Given the description of an element on the screen output the (x, y) to click on. 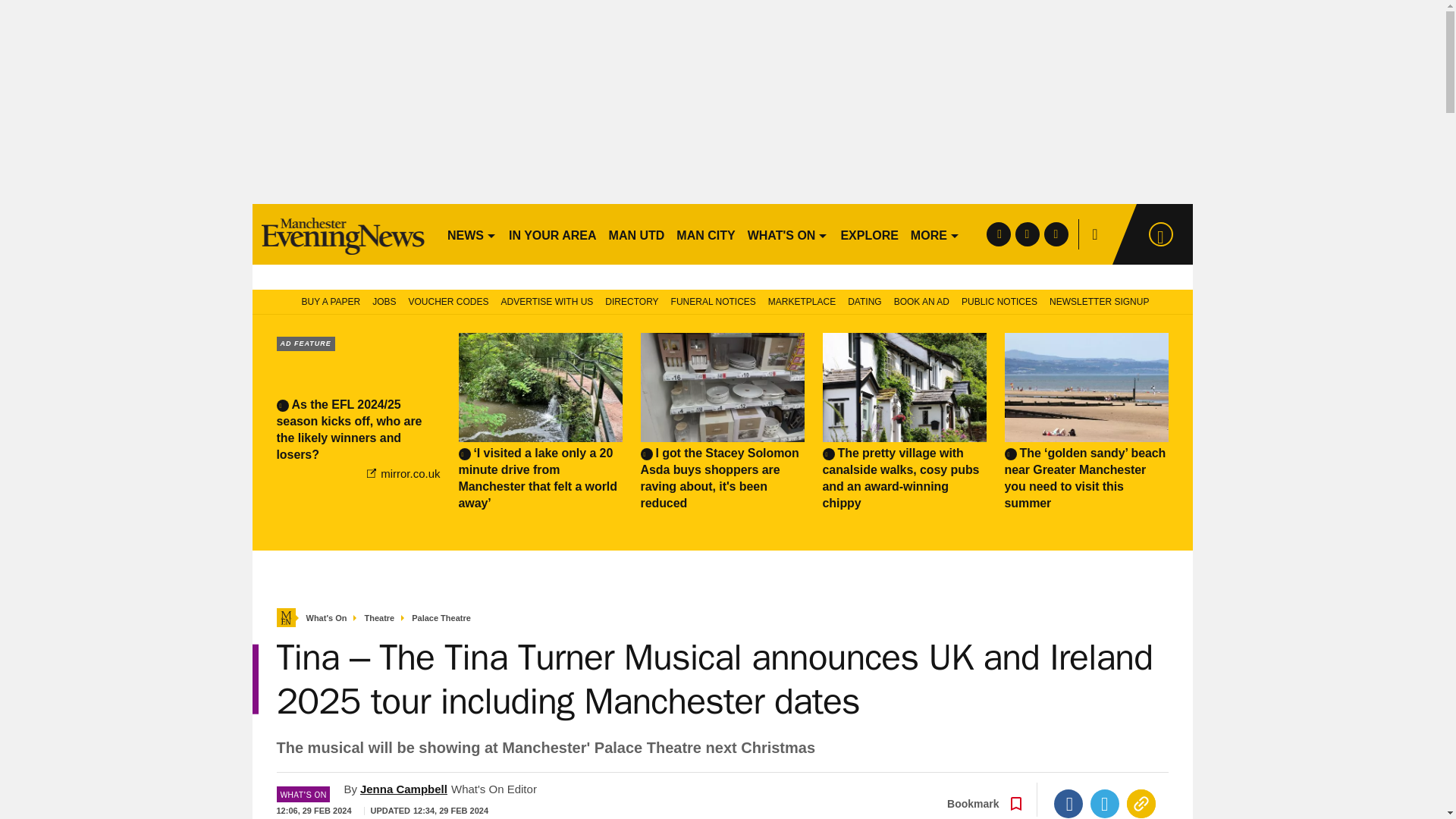
Facebook (1068, 803)
Twitter (1104, 803)
instagram (1055, 233)
NEWS (471, 233)
men (342, 233)
facebook (997, 233)
WHAT'S ON (787, 233)
MAN UTD (636, 233)
MAN CITY (705, 233)
twitter (1026, 233)
